Given the description of an element on the screen output the (x, y) to click on. 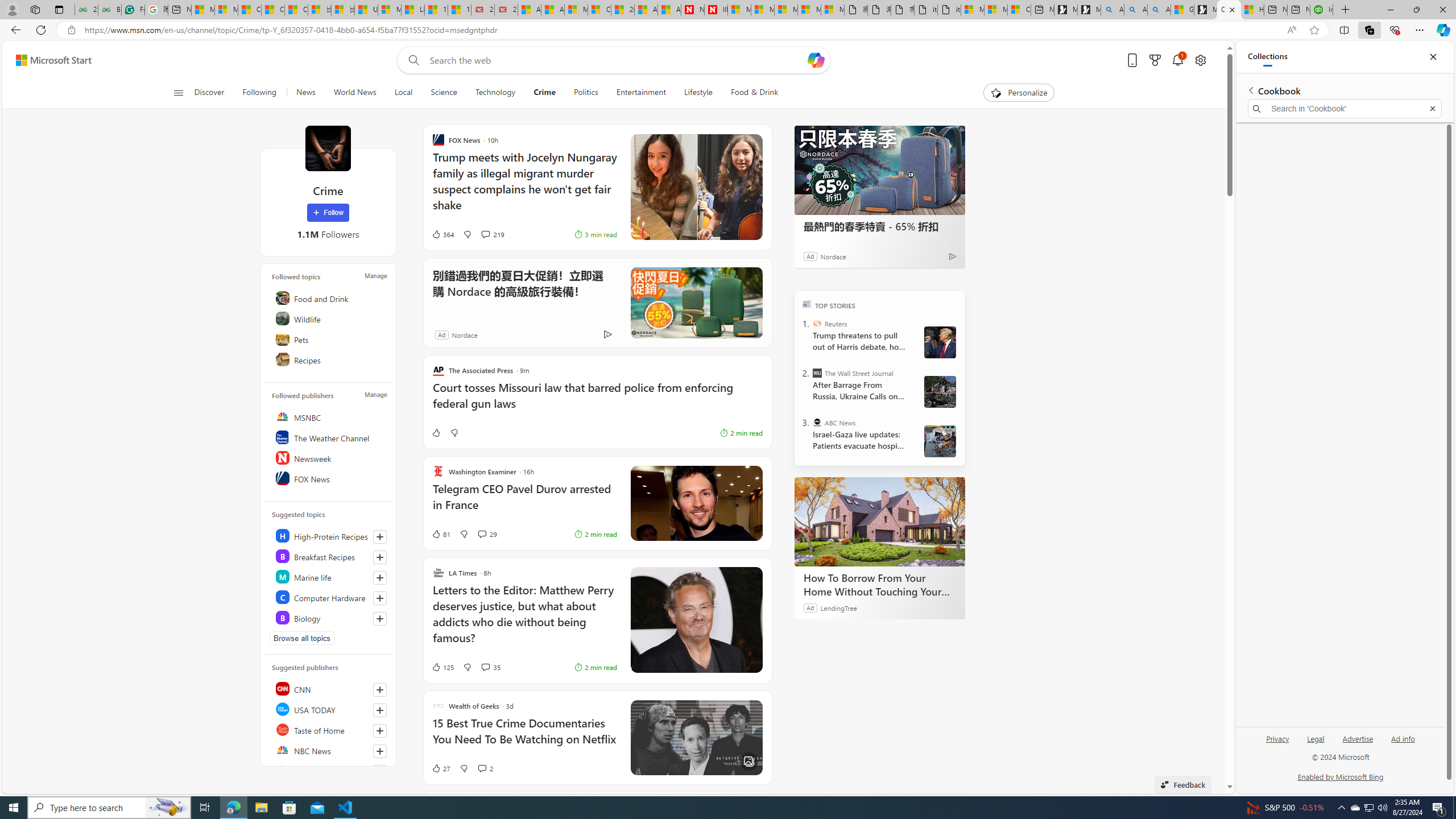
Class: highlight (328, 617)
Newsweek (328, 457)
TOP (806, 302)
The Weather Channel (328, 437)
Reuters (328, 770)
